Given the description of an element on the screen output the (x, y) to click on. 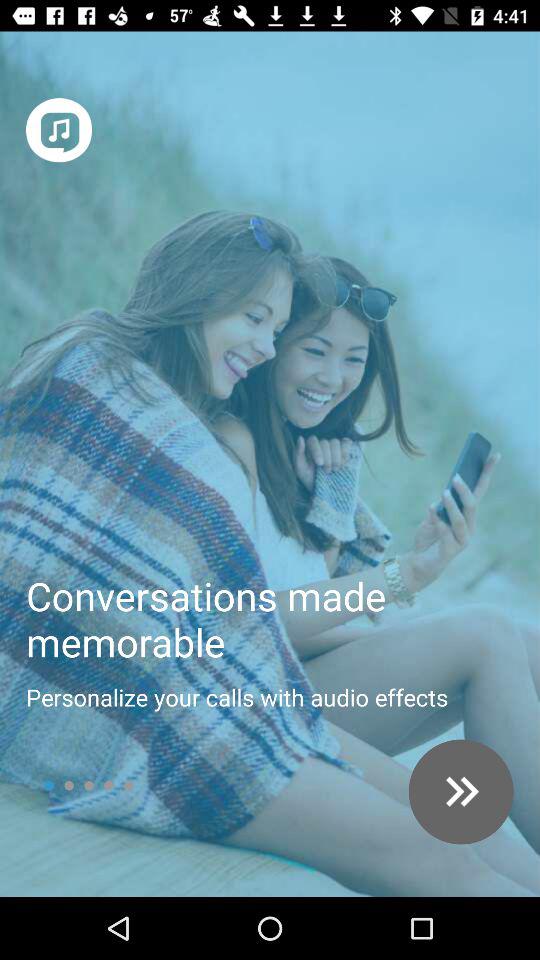
turn on the item at the bottom right corner (460, 791)
